Given the description of an element on the screen output the (x, y) to click on. 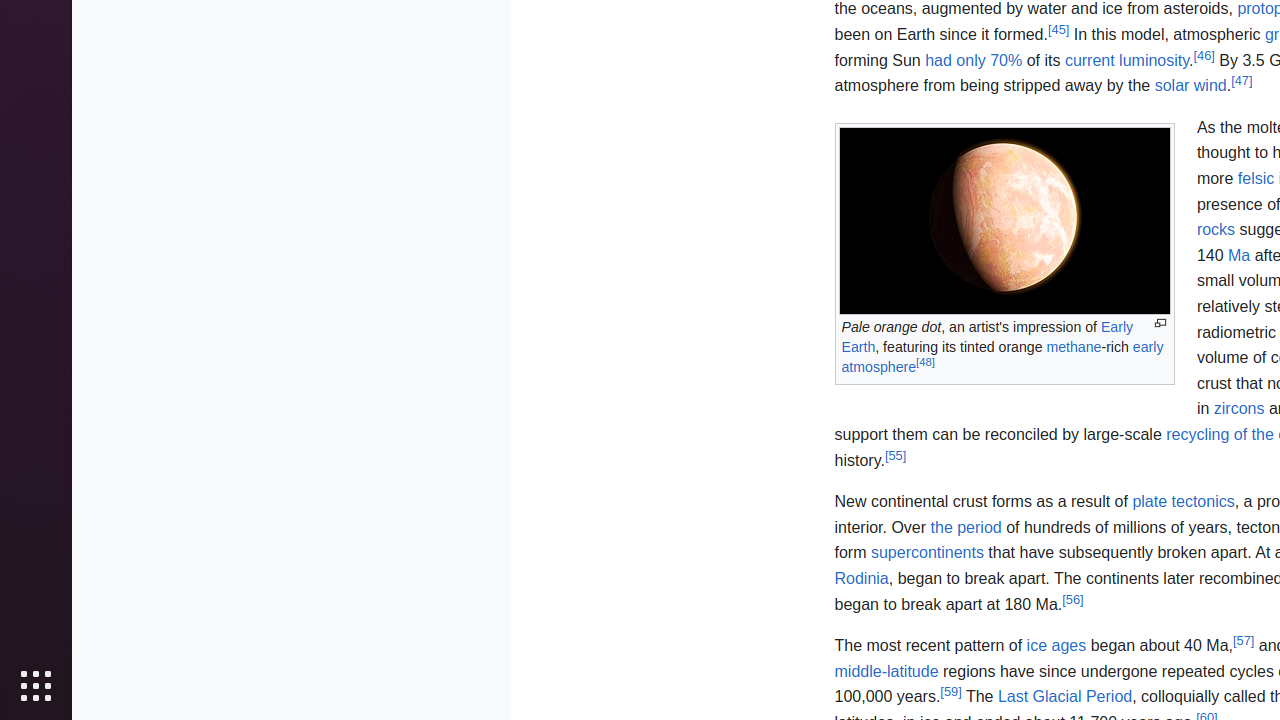
had only 70% Element type: link (974, 60)
[48] Element type: link (925, 362)
plate tectonics Element type: link (1183, 502)
solar wind Element type: link (1190, 86)
early atmosphere Element type: link (1002, 357)
